Given the description of an element on the screen output the (x, y) to click on. 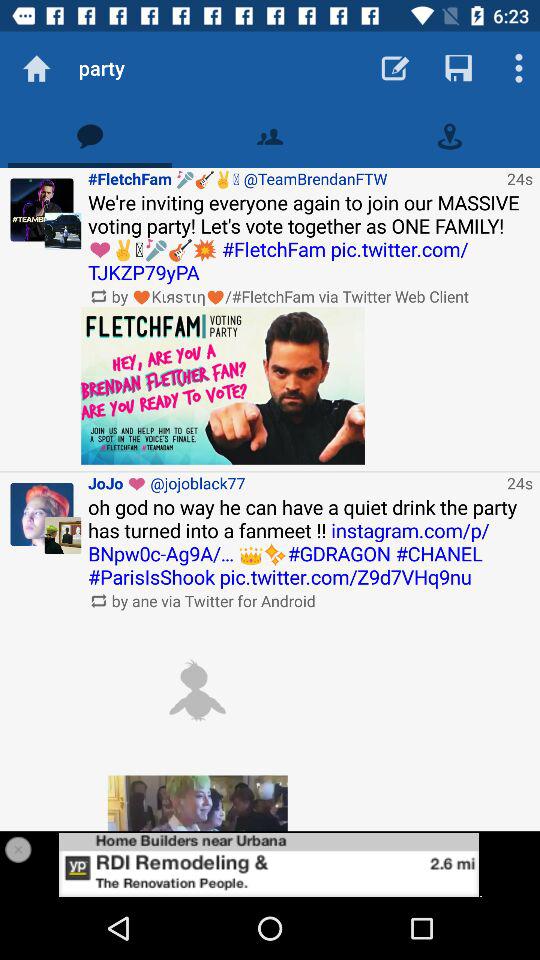
go to profile (270, 864)
